Given the description of an element on the screen output the (x, y) to click on. 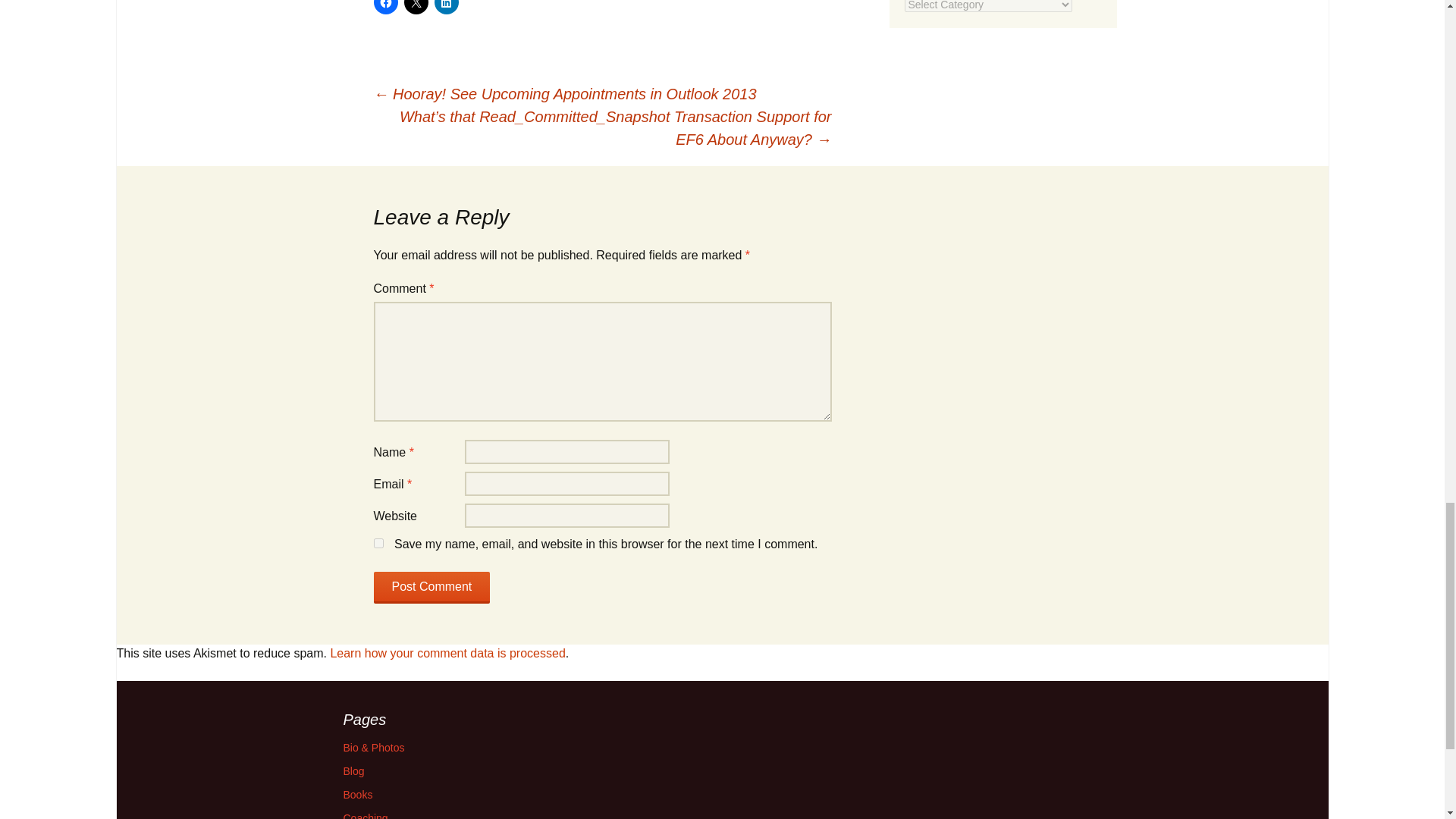
Click to share on X (415, 7)
Post Comment (430, 587)
Click to share on LinkedIn (445, 7)
yes (377, 542)
Click to share on Facebook (384, 7)
